Given the description of an element on the screen output the (x, y) to click on. 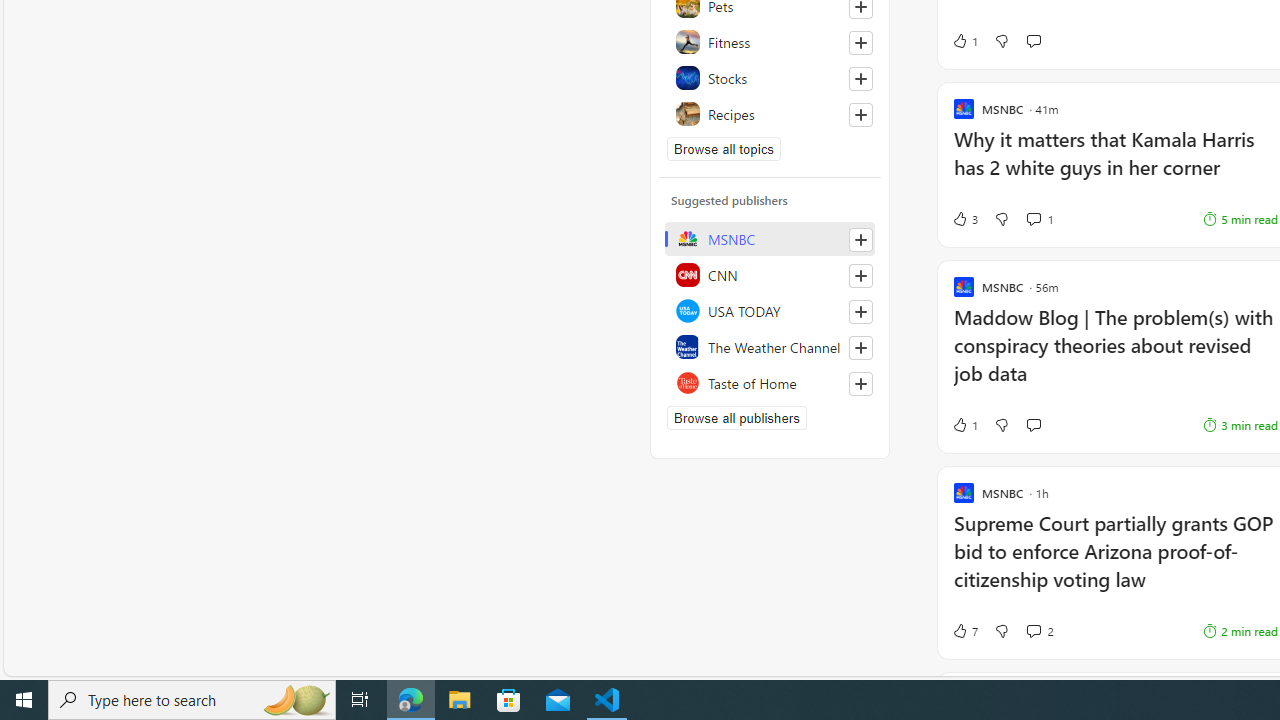
Stocks (770, 78)
View comments 2 Comment (1039, 630)
CNN (770, 274)
Follow this source (860, 384)
Fitness (770, 42)
Start the conversation (1033, 425)
Taste of Home (770, 382)
3 Like (964, 219)
Start the conversation (1033, 424)
MSNBC (770, 238)
Browse all topics (724, 148)
